Given the description of an element on the screen output the (x, y) to click on. 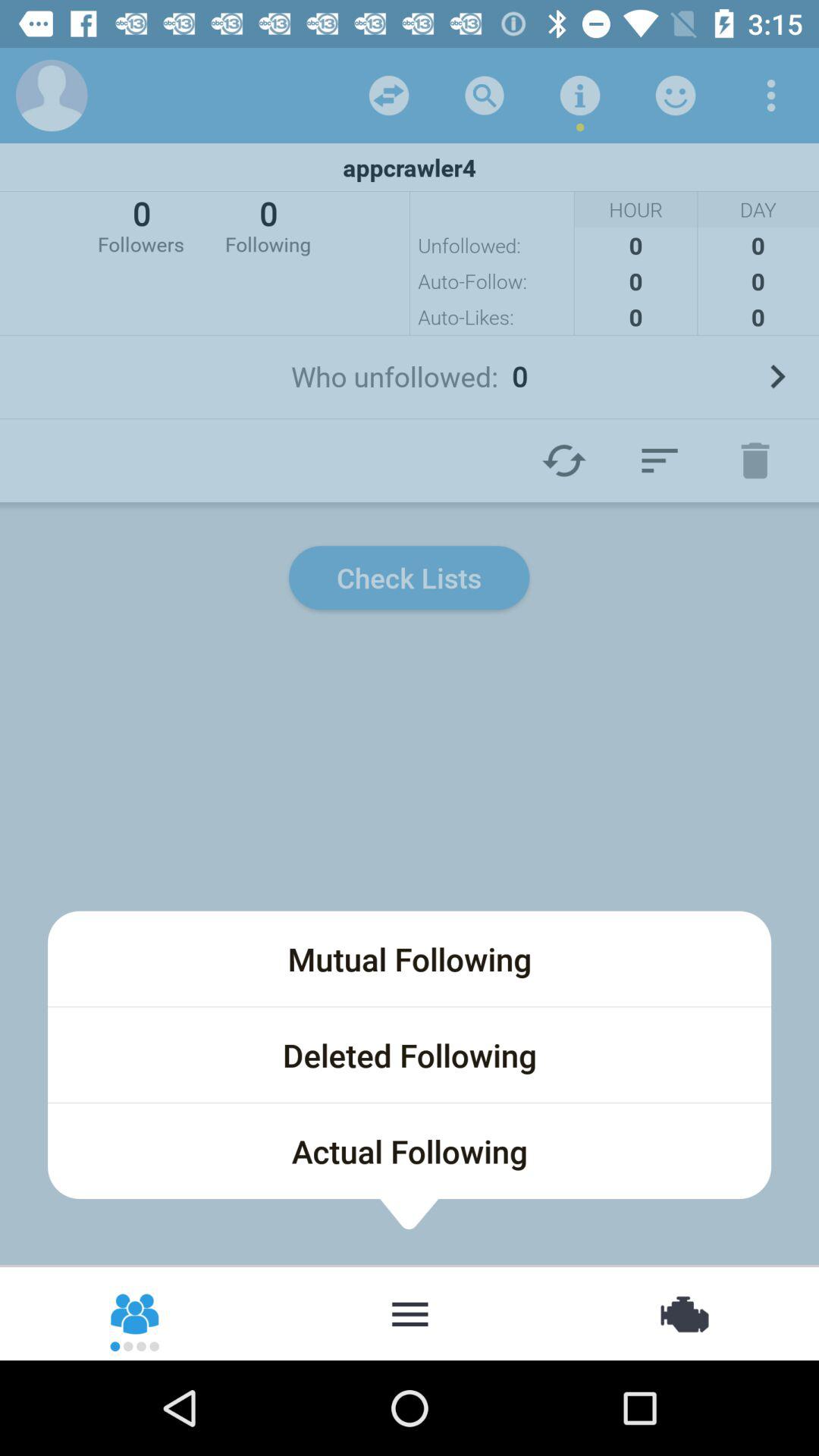
reload page (563, 460)
